Given the description of an element on the screen output the (x, y) to click on. 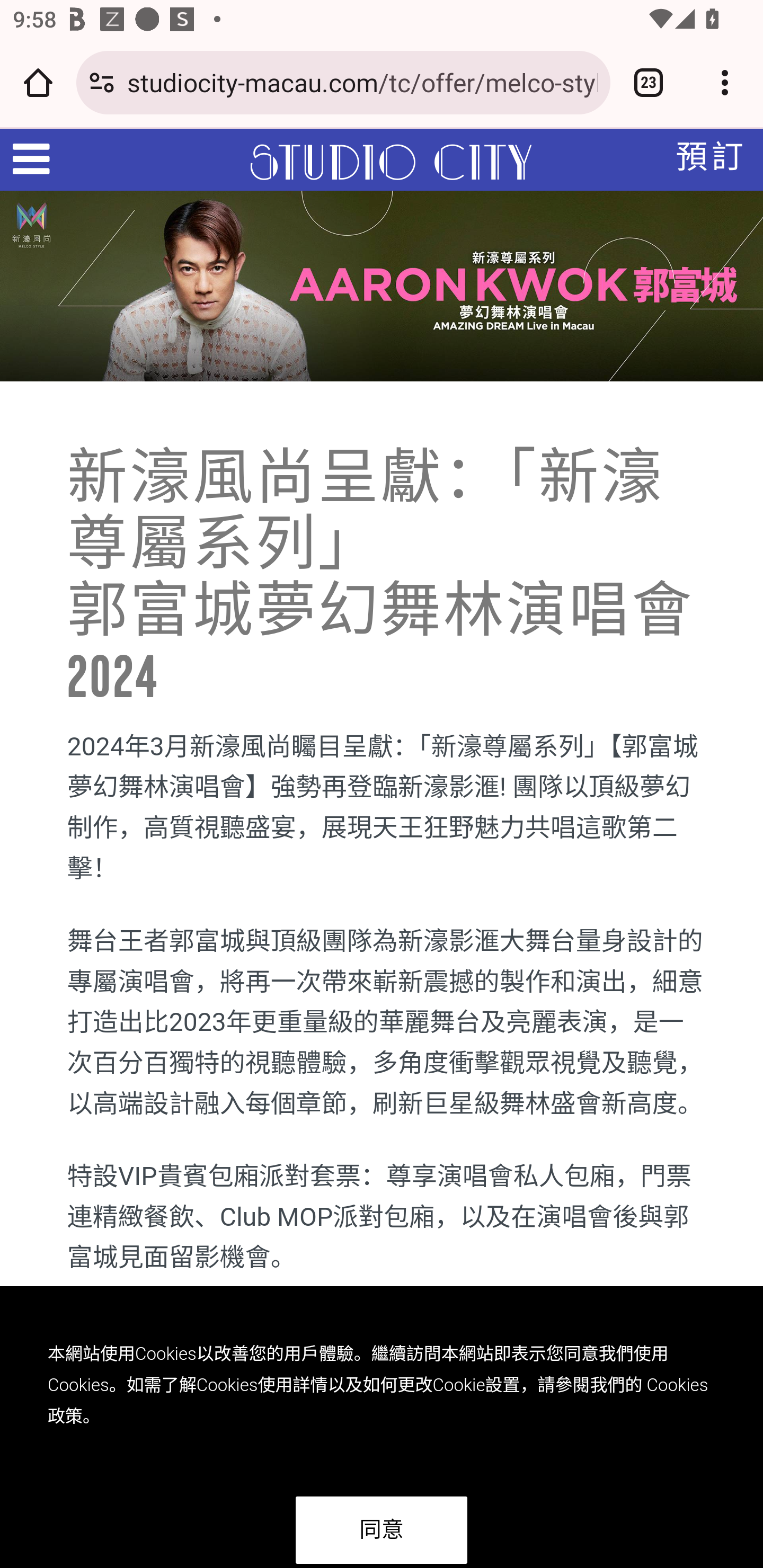
Open the home page (38, 82)
Connection is secure (101, 82)
Switch or close tabs (648, 82)
Customize and control Google Chrome (724, 82)
 (25, 159)
預訂 (710, 158)
Aaron Kwok concert (381, 286)
